Given the description of an element on the screen output the (x, y) to click on. 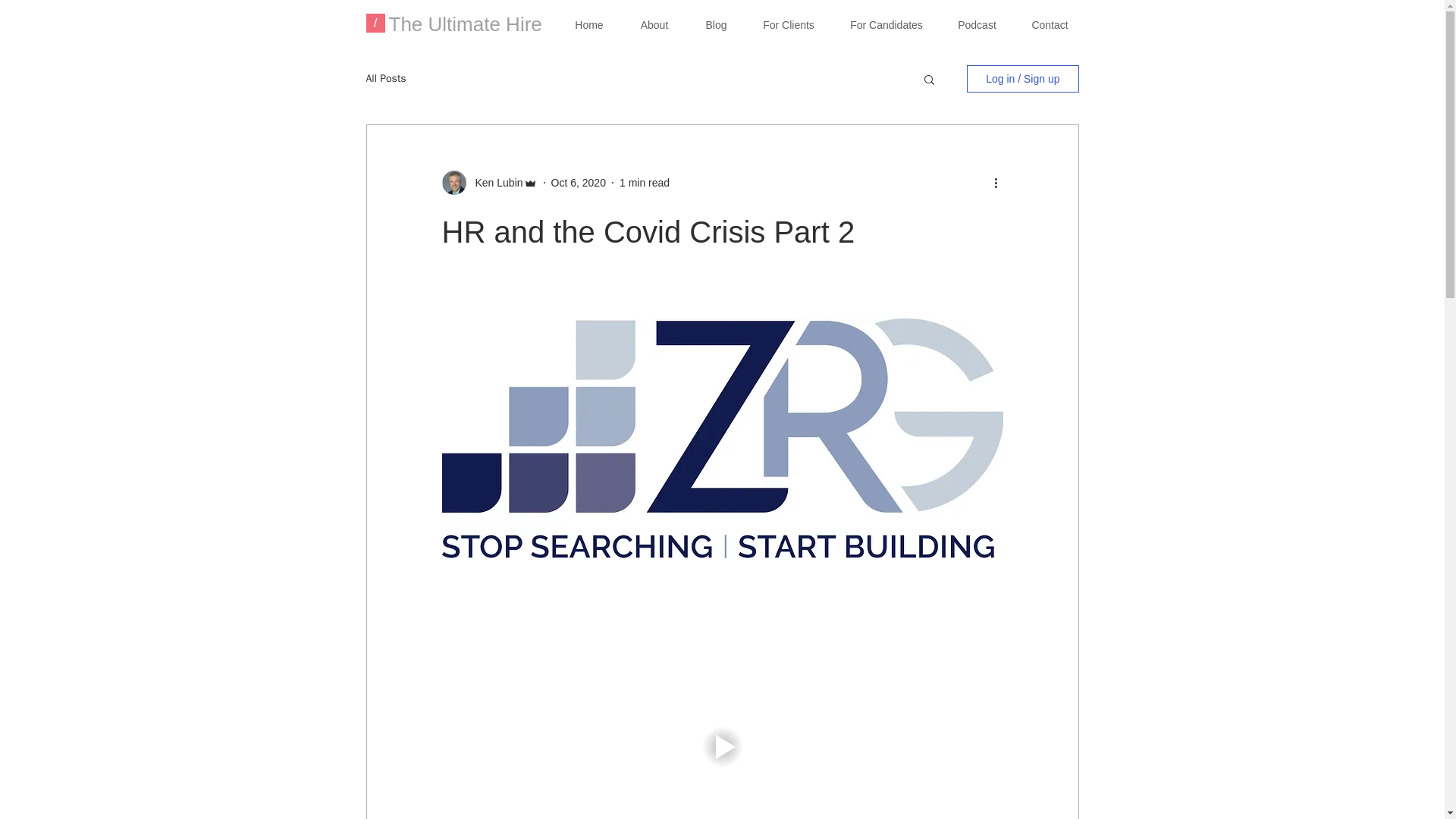
For Clients (787, 25)
Podcast (976, 25)
1 min read (644, 182)
Oct 6, 2020 (578, 182)
Home (588, 25)
Blog (715, 25)
Ken Lubin (493, 182)
For Candidates (886, 25)
The Ultimate Hire (464, 24)
Contact (1049, 25)
About (654, 25)
All Posts (385, 78)
